Given the description of an element on the screen output the (x, y) to click on. 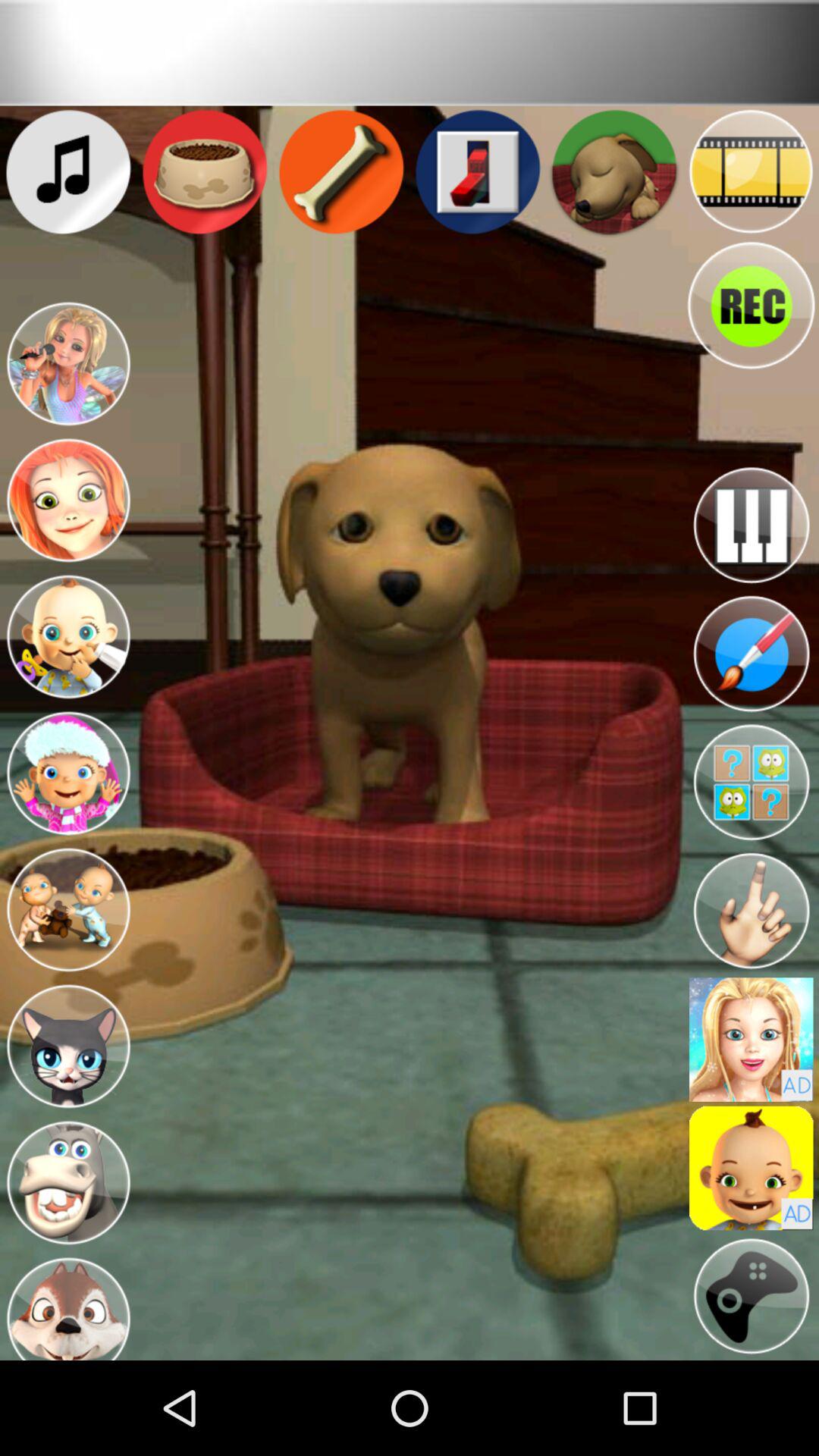
open advertisement (751, 1039)
